Given the description of an element on the screen output the (x, y) to click on. 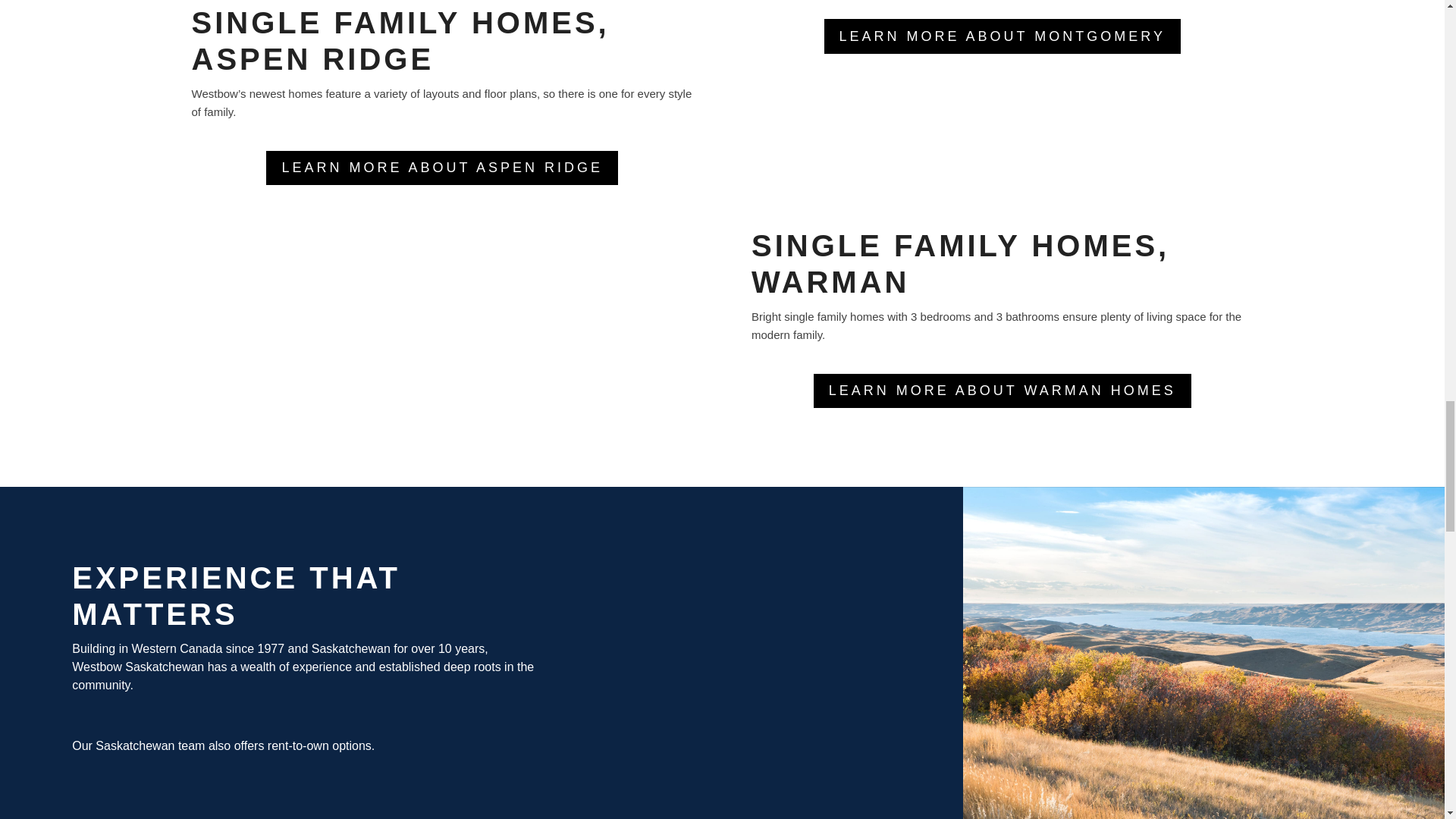
LEARN MORE ABOUT ASPEN RIDGE (441, 167)
LEARN MORE ABOUT MONTGOMERY (1002, 35)
LEARN MORE ABOUT WARMAN HOMES (1002, 390)
